Given the description of an element on the screen output the (x, y) to click on. 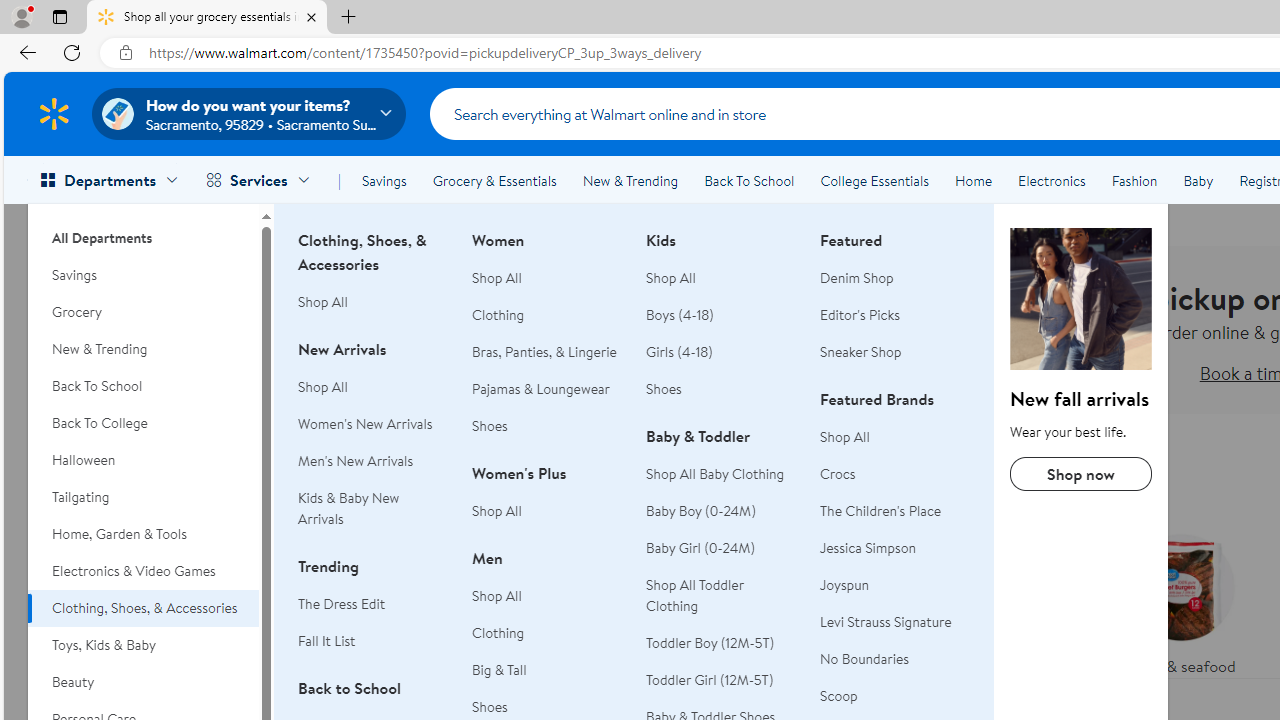
Meat & seafood (1180, 599)
Toddler Girl (12M-5T) (710, 679)
Back To College (143, 423)
Kids & Baby New Arrivals (348, 508)
Levi Strauss Signature (886, 622)
Back To School (143, 385)
Fresh produce (1024, 599)
Meat & seafood (1180, 599)
Shop All (895, 436)
Joyspun (895, 585)
Back To School (749, 180)
Grocery (143, 312)
Girls (4-18) (679, 352)
